Given the description of an element on the screen output the (x, y) to click on. 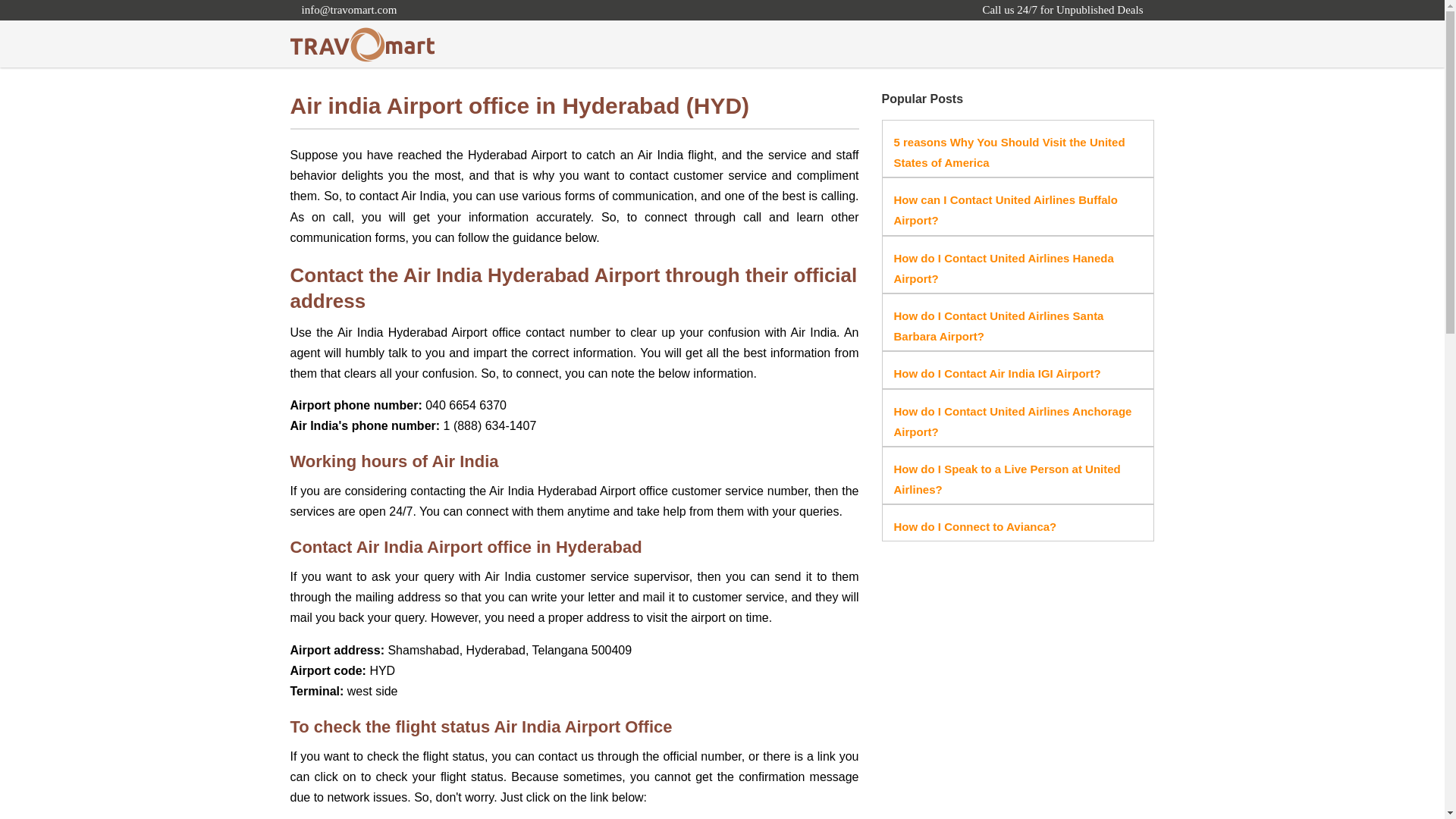
How can I Contact United Airlines Buffalo Airport? (1004, 209)
5 reasons Why You Should Visit the United States of America (1008, 151)
How do I Contact United Airlines Anchorage Airport? (1012, 421)
How do I Contact United Airlines Haneda Airport? (1003, 268)
How do I Connect to Avianca? (975, 526)
How do I Contact United Airlines Santa Barbara Airport? (998, 326)
How do I Contact Air India IGI Airport? (996, 373)
How do I Speak to a Live Person at United Airlines? (1006, 479)
